Given the description of an element on the screen output the (x, y) to click on. 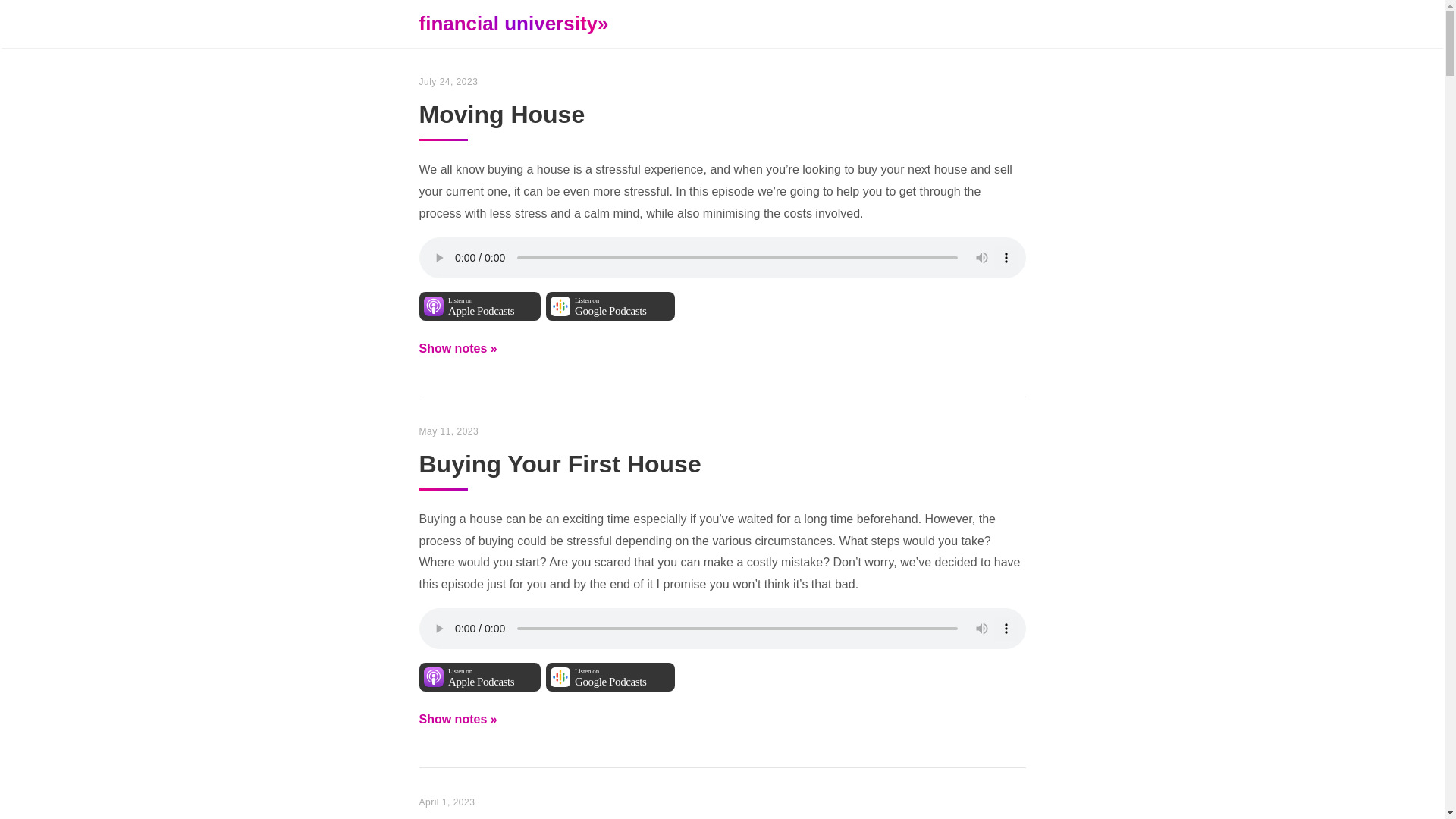
Buying Your First House (722, 478)
financial university (610, 676)
